Given the description of an element on the screen output the (x, y) to click on. 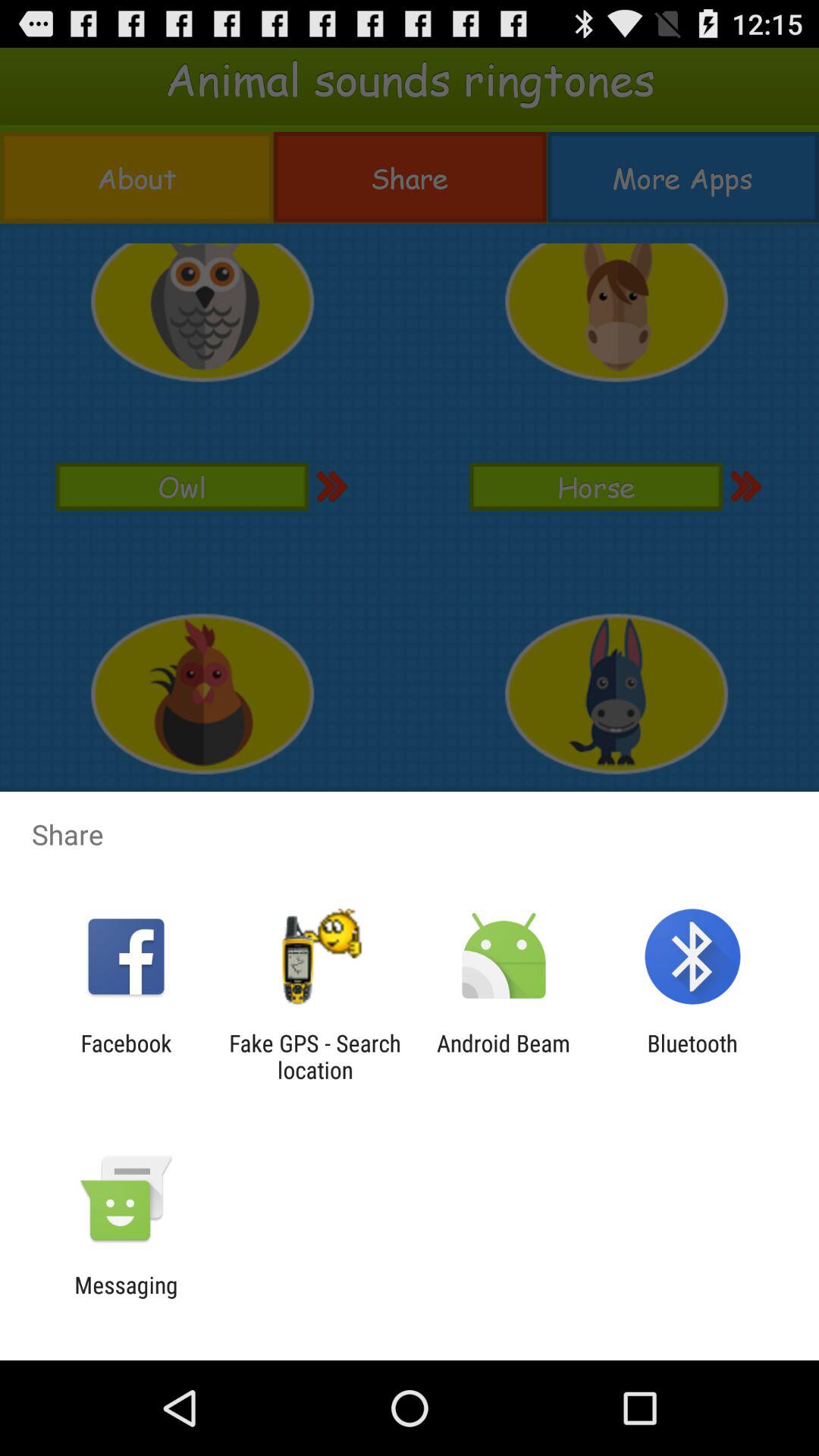
turn off the item to the right of android beam icon (692, 1056)
